Given the description of an element on the screen output the (x, y) to click on. 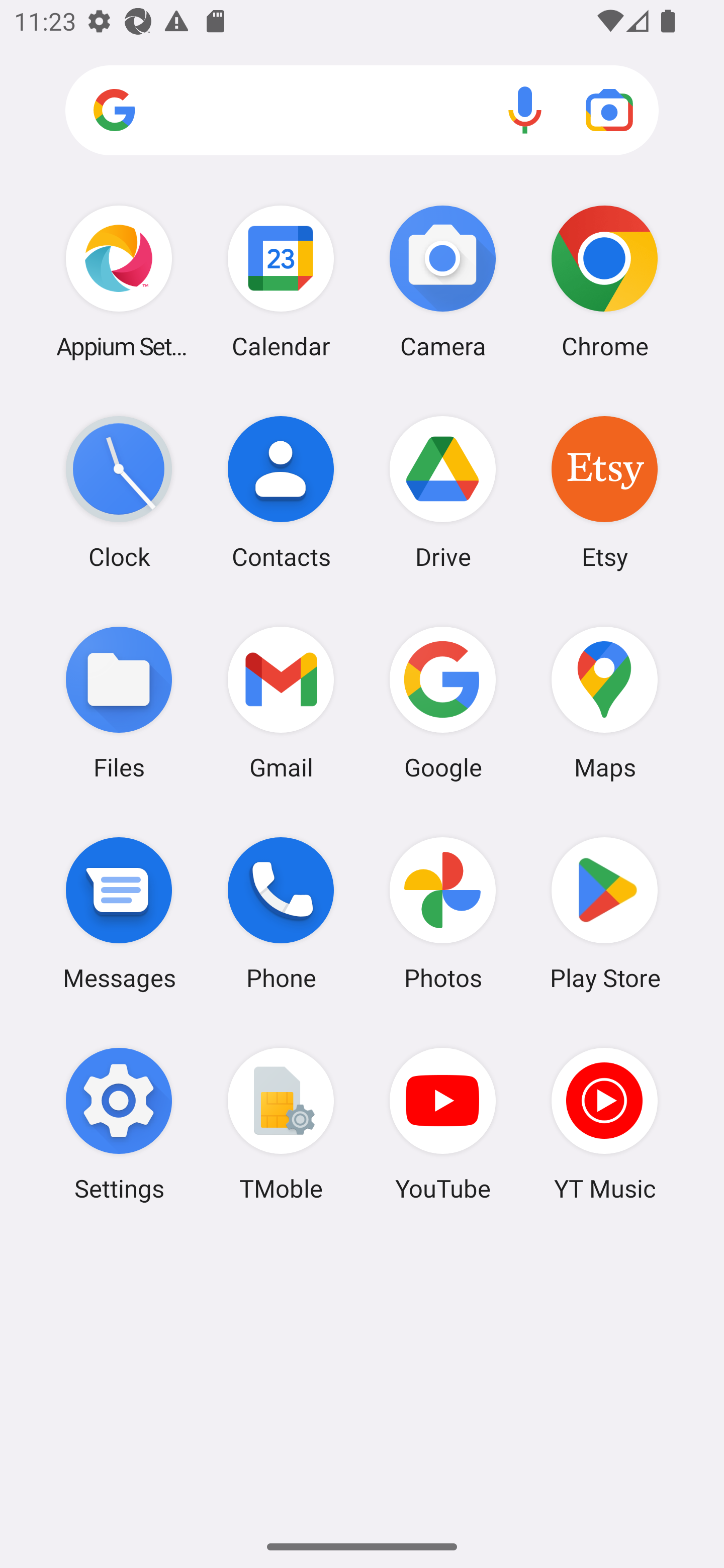
Search apps, web and more (361, 110)
Voice search (524, 109)
Google Lens (608, 109)
Appium Settings (118, 281)
Calendar (280, 281)
Camera (443, 281)
Chrome (604, 281)
Clock (118, 492)
Contacts (280, 492)
Drive (443, 492)
Etsy (604, 492)
Files (118, 702)
Gmail (280, 702)
Google (443, 702)
Maps (604, 702)
Messages (118, 913)
Phone (280, 913)
Photos (443, 913)
Play Store (604, 913)
Settings (118, 1124)
TMoble (280, 1124)
YouTube (443, 1124)
YT Music (604, 1124)
